Given the description of an element on the screen output the (x, y) to click on. 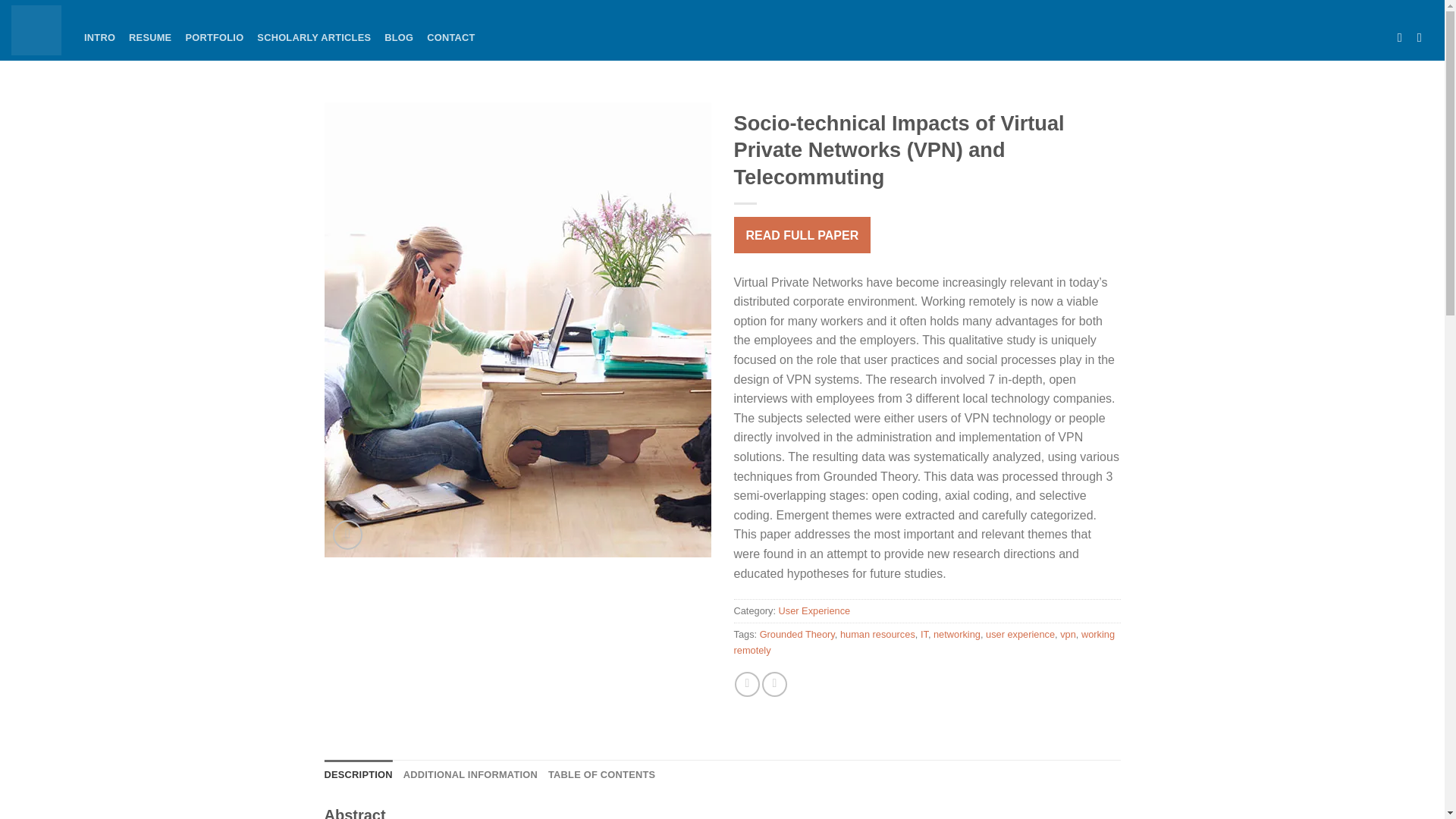
Grounded Theory (797, 633)
TABLE OF CONTENTS (601, 775)
Send me an email (1403, 37)
Share on LinkedIn (774, 683)
human resources (877, 633)
user experience (1019, 633)
SCHOLARLY ARTICLES (314, 37)
Zoom (347, 534)
working remotely (924, 641)
DESCRIPTION (358, 775)
